Given the description of an element on the screen output the (x, y) to click on. 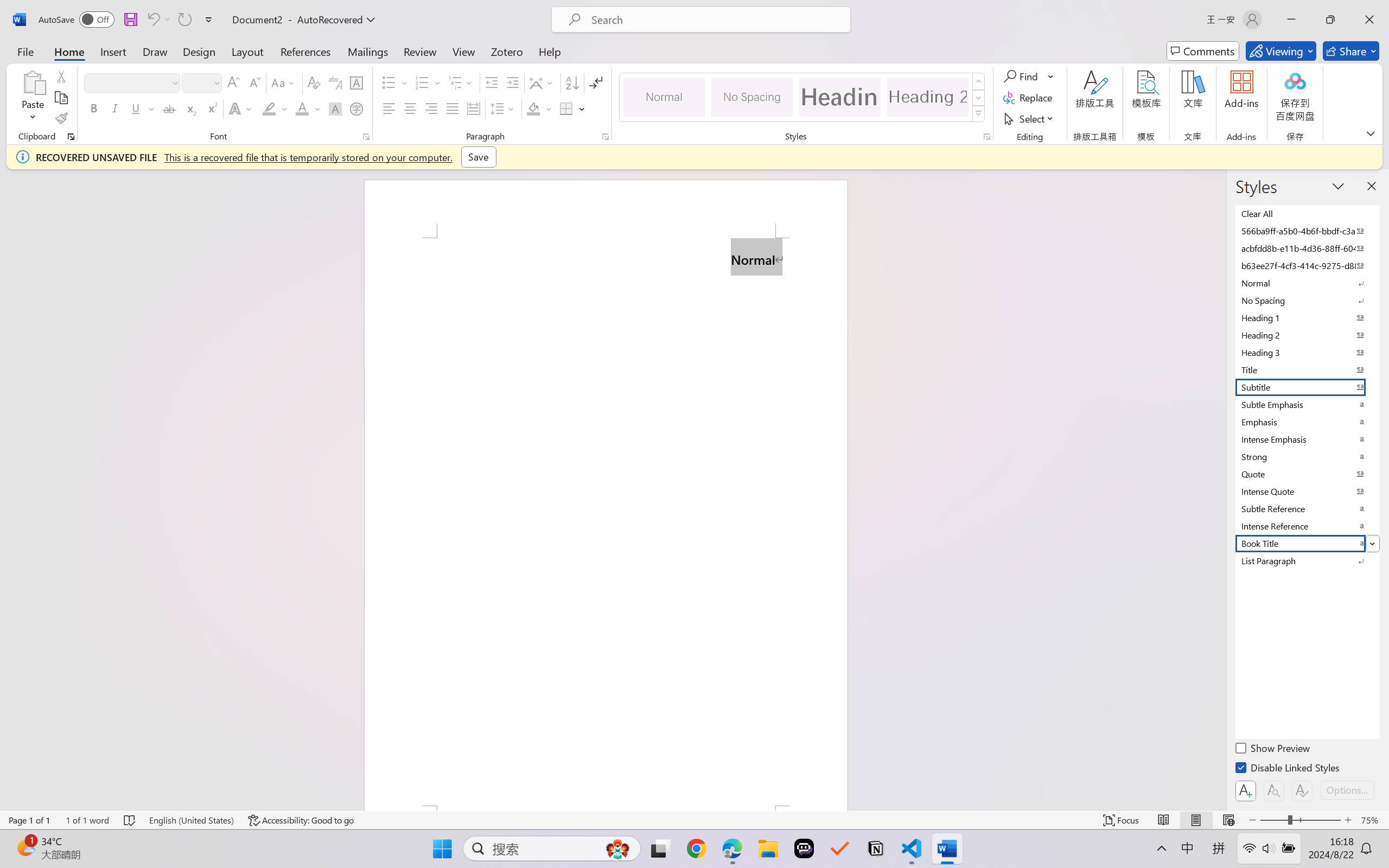
Strong (1306, 456)
Options... (1346, 789)
AutomationID: QuickStylesGallery (802, 97)
Microsoft search (715, 19)
